Given the description of an element on the screen output the (x, y) to click on. 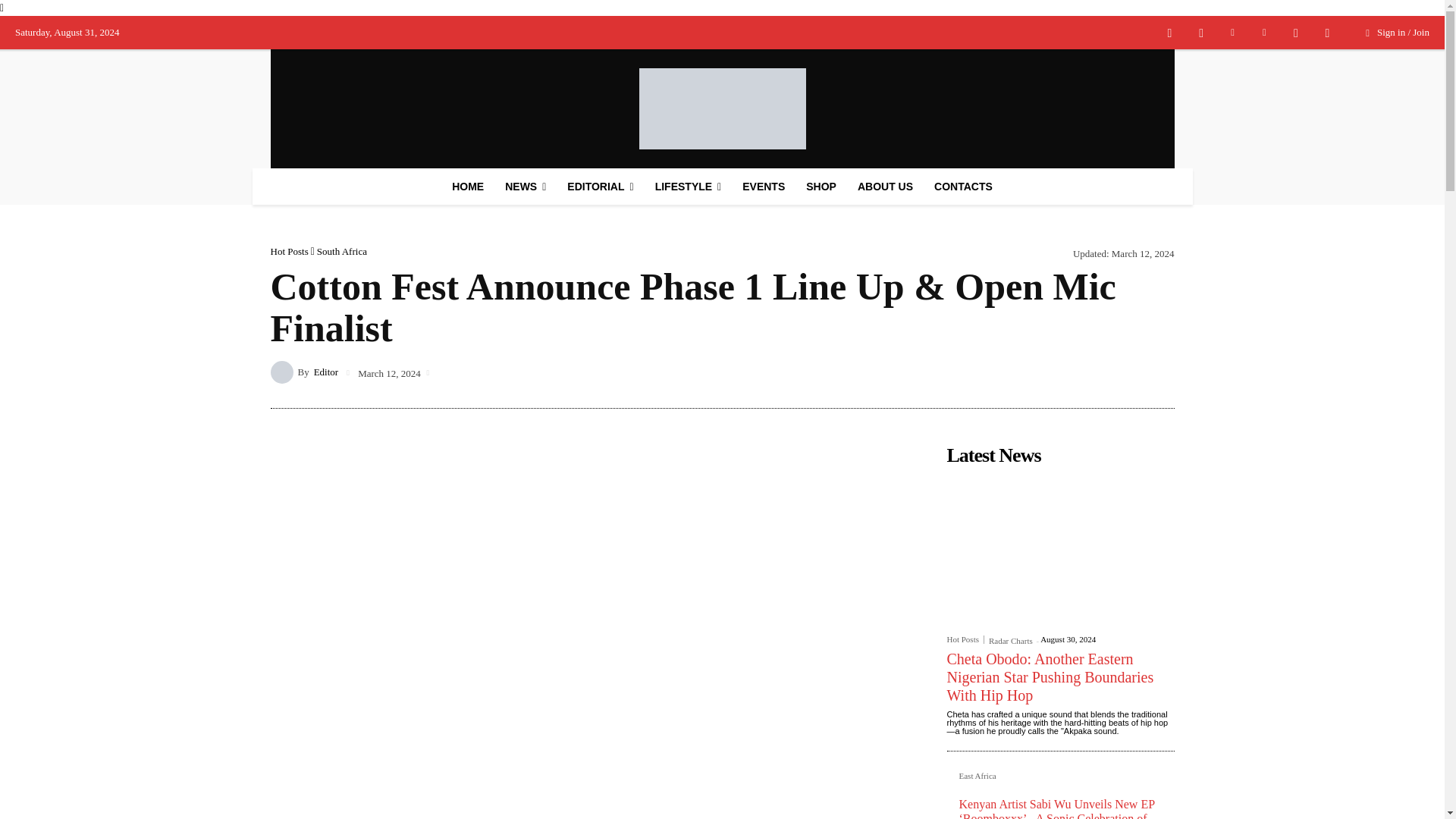
Instagram (1201, 33)
Facebook (1170, 33)
EDITORIAL (599, 186)
HOME (468, 186)
NEWS (525, 186)
Linkedin (1233, 33)
Pinterest (1263, 33)
Twitter (1295, 33)
Youtube (1327, 33)
